Given the description of an element on the screen output the (x, y) to click on. 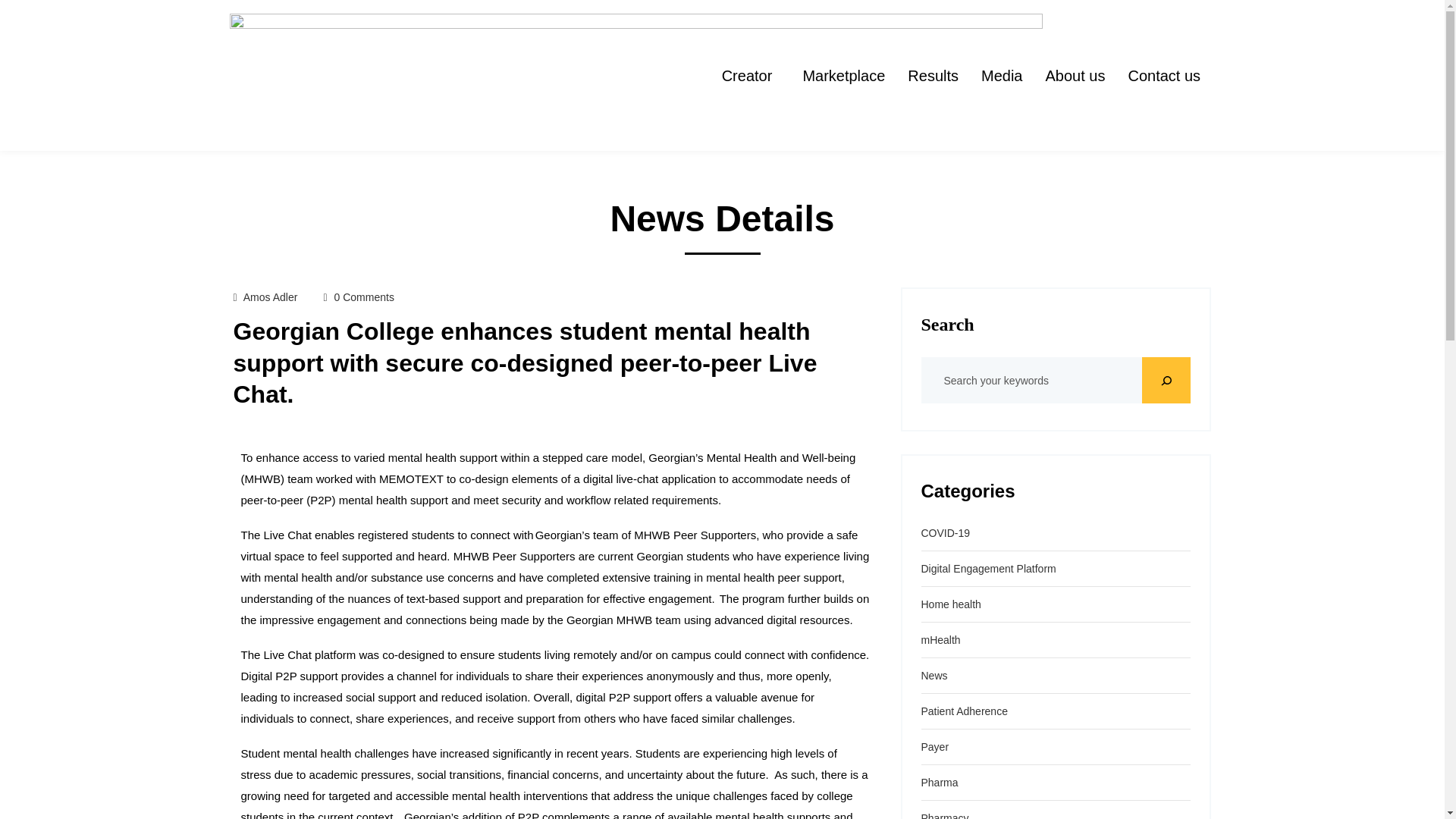
Marketplace (843, 75)
Media (1001, 75)
Posts by Amos Adler (270, 297)
mHealth (939, 639)
Payer (934, 746)
Pharmacy (944, 815)
About us (1074, 75)
Digital Engagement Platform (987, 568)
COVID-19 (944, 532)
News (933, 675)
